Given the description of an element on the screen output the (x, y) to click on. 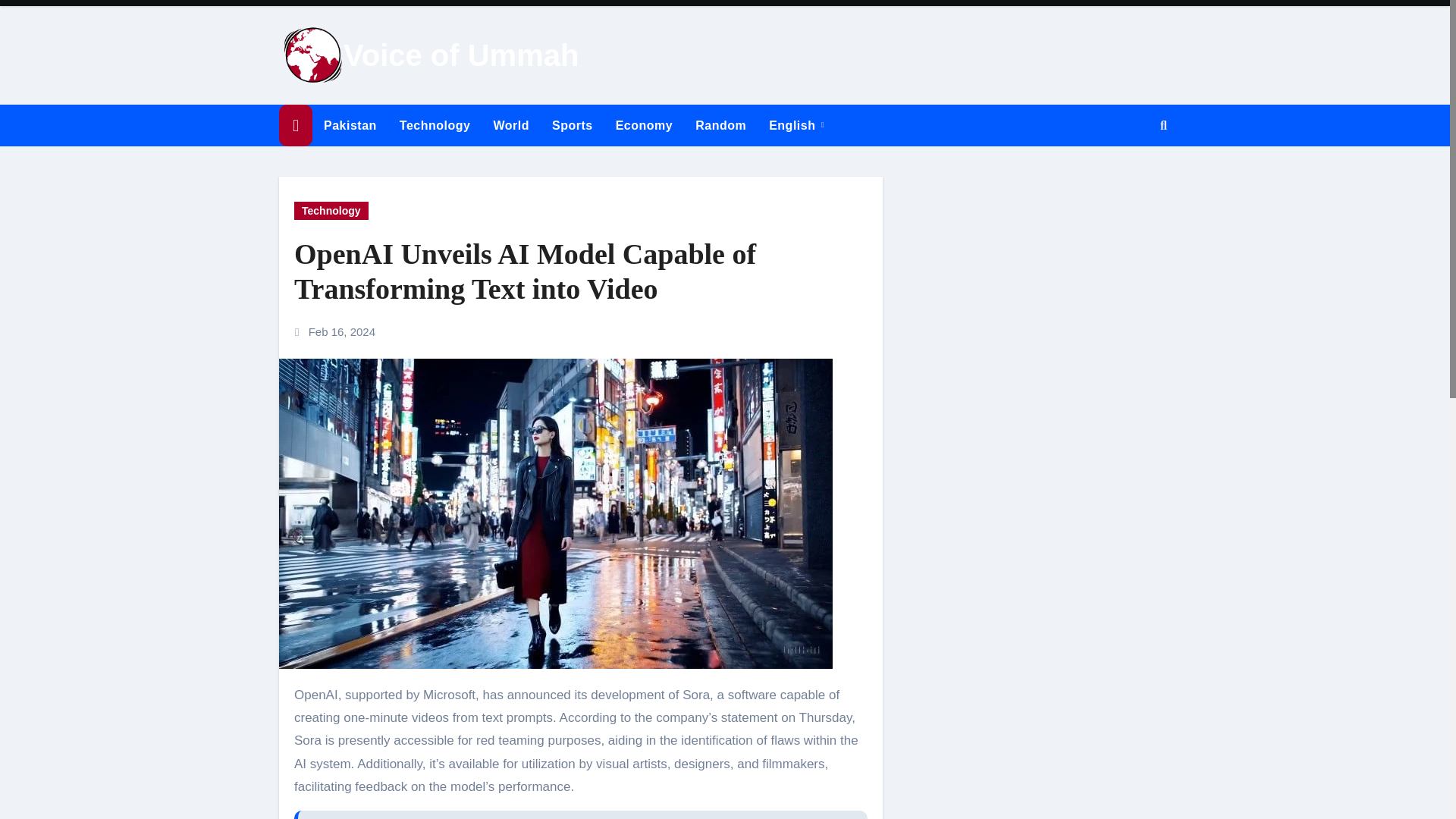
Pakistan (350, 125)
World (510, 125)
Technology (434, 125)
World (510, 125)
English (796, 125)
Voice of Ummah (460, 55)
Economy (644, 125)
Random (720, 125)
English (796, 125)
Economy (644, 125)
